Given the description of an element on the screen output the (x, y) to click on. 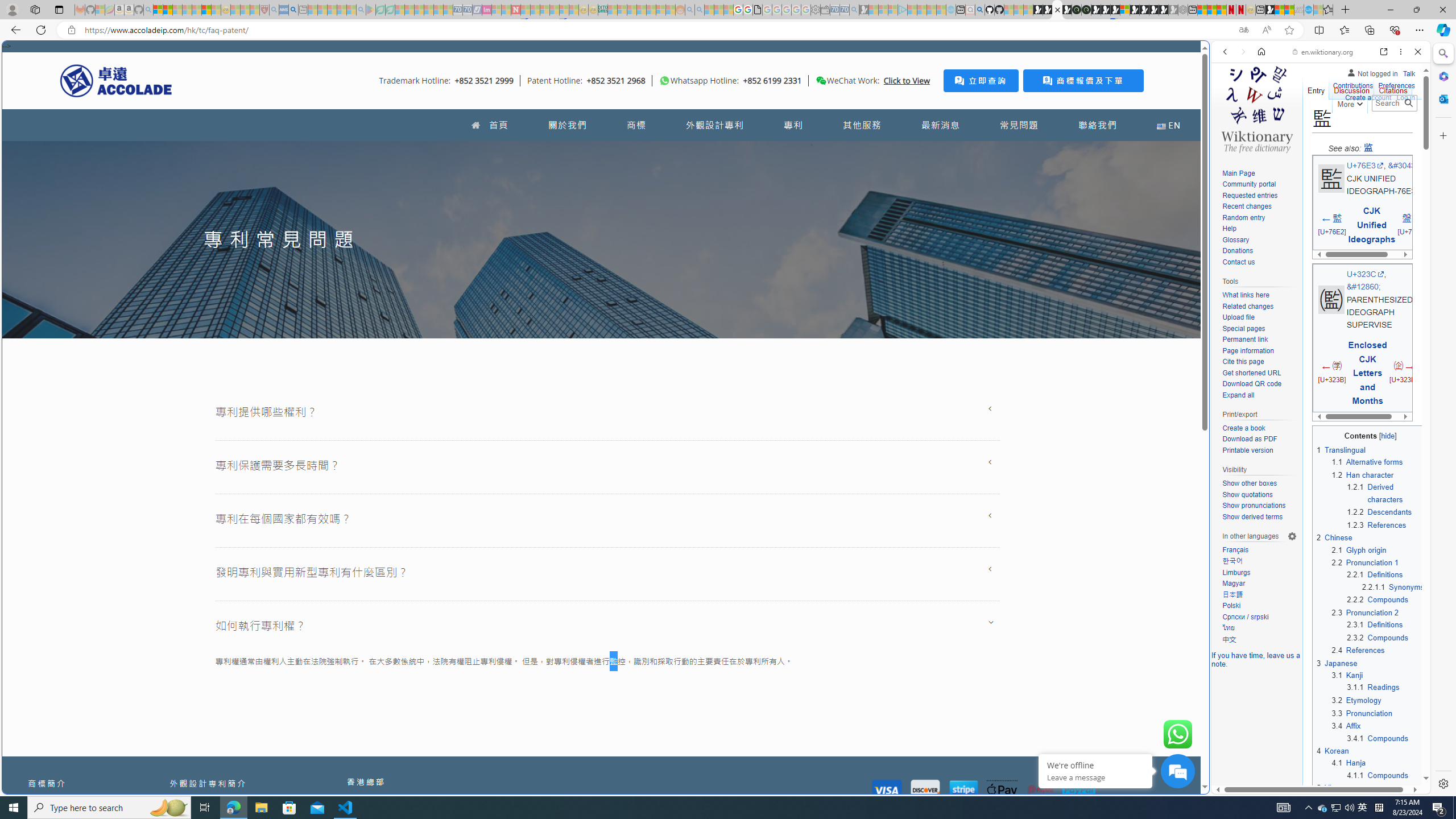
Cite this page (1242, 361)
Language settings (1292, 536)
3.4.1 Compounds (1377, 738)
2.3.2Compounds (1385, 637)
Accolade IP HK Logo (116, 80)
1.2 Han character (1361, 474)
